Given the description of an element on the screen output the (x, y) to click on. 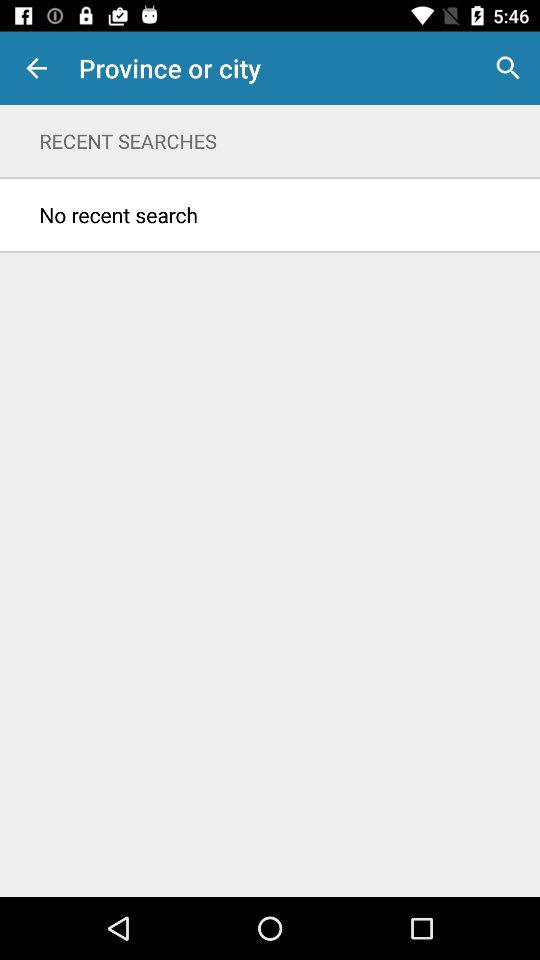
select icon above the recent searches icon (36, 68)
